Given the description of an element on the screen output the (x, y) to click on. 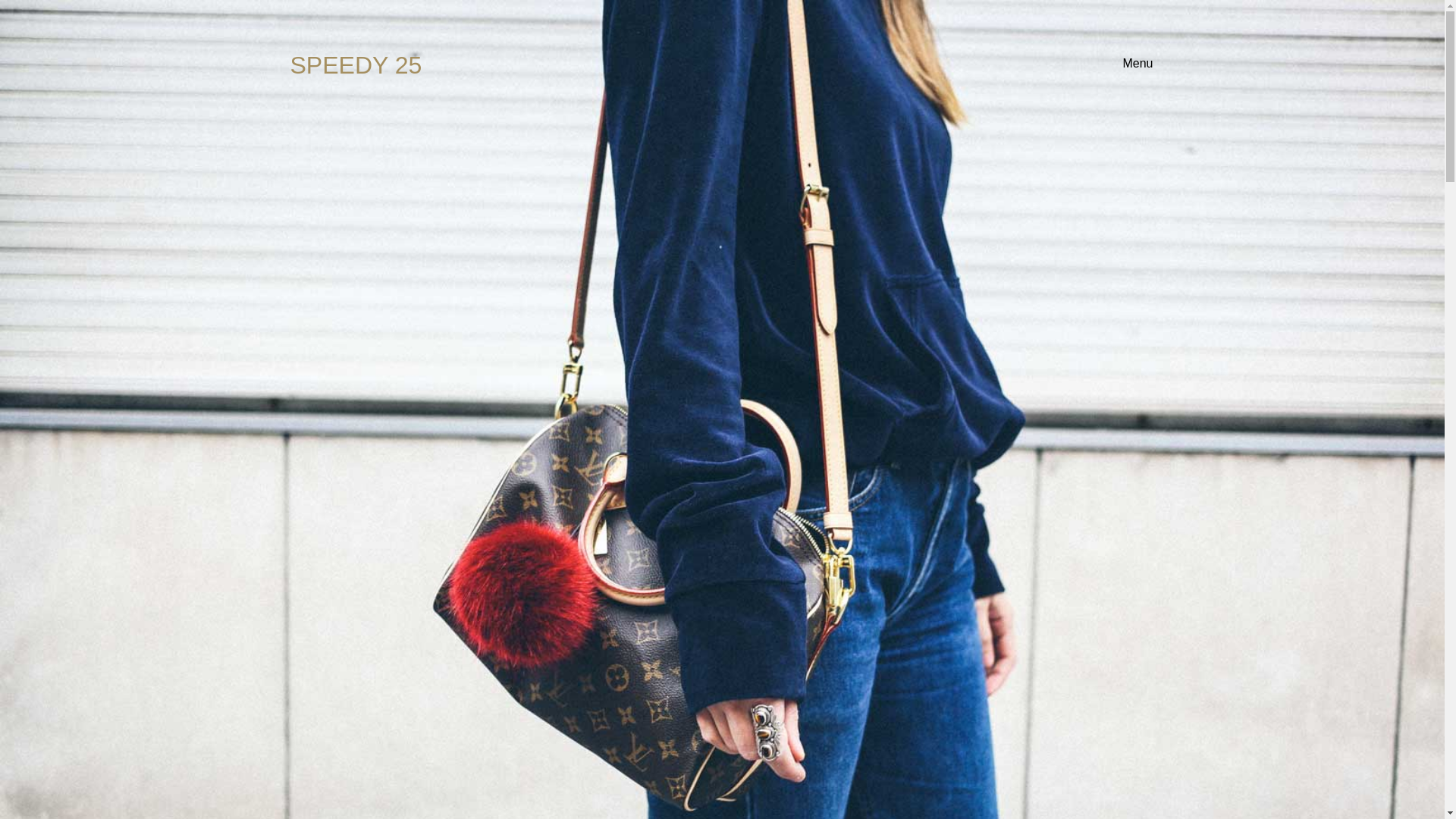
Menu (1137, 61)
SPEEDY 25 (308, 65)
Go (1138, 504)
